Given the description of an element on the screen output the (x, y) to click on. 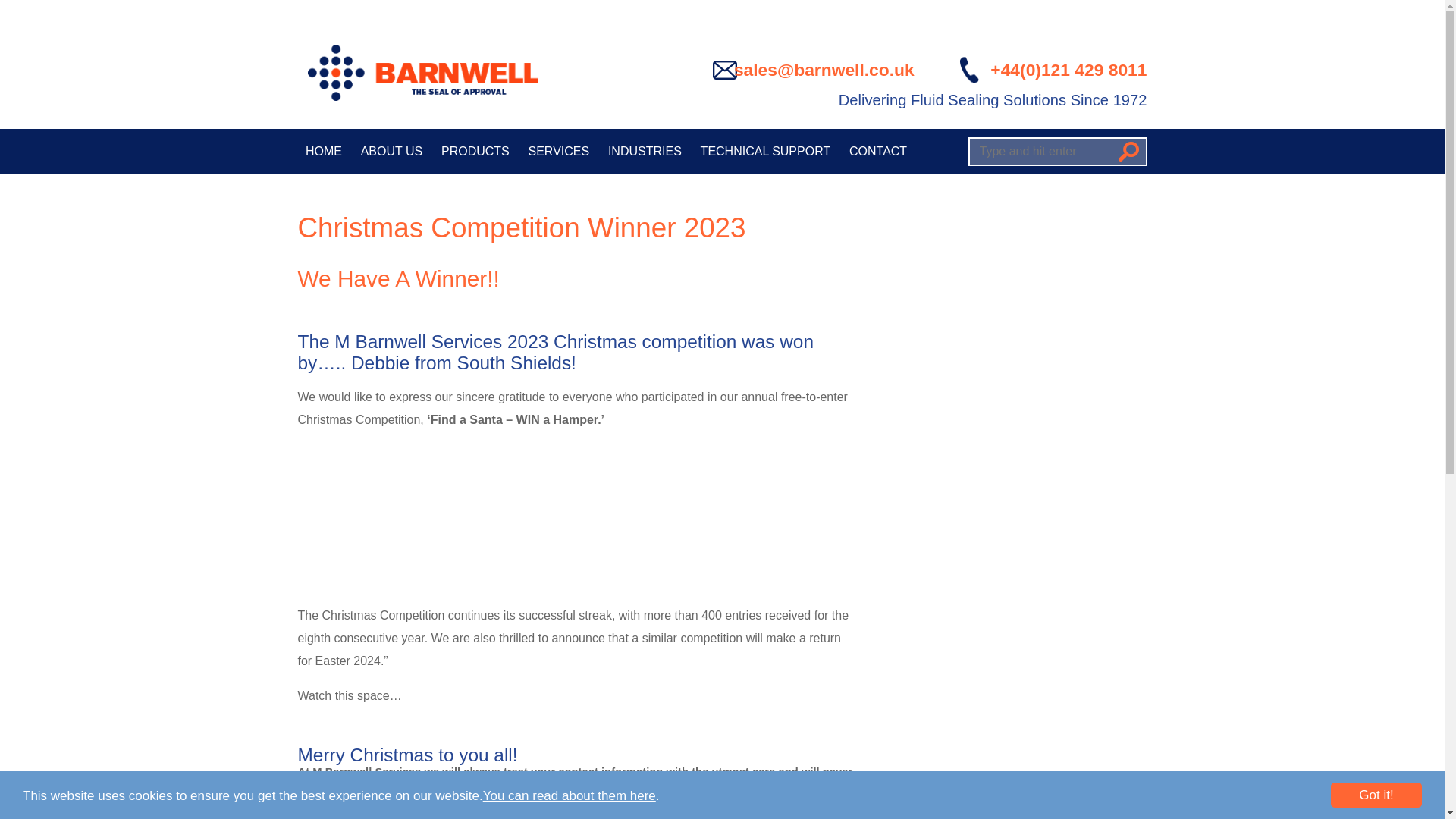
Christmas Competition Winner 2023 (521, 227)
SERVICES (557, 151)
Christmas Competition Winner 2023 (521, 227)
INDUSTRIES (644, 151)
TECHNICAL SUPPORT (764, 151)
PRODUCTS (475, 151)
HOME (323, 151)
CONTACT (878, 151)
ABOUT US (390, 151)
